Given the description of an element on the screen output the (x, y) to click on. 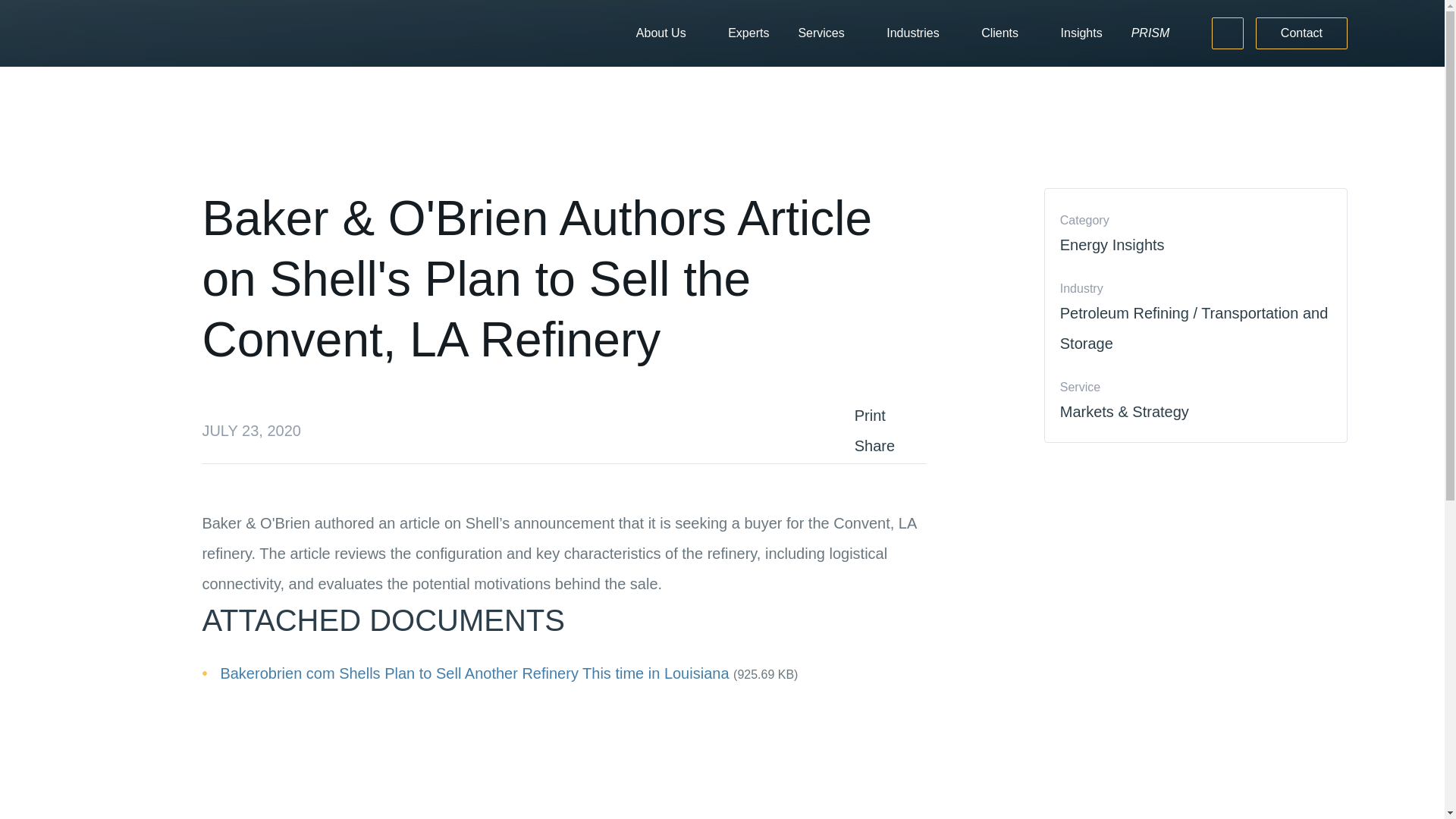
Services (820, 33)
About Us (660, 33)
Experts (748, 33)
PRISM (1150, 33)
Industries (912, 33)
Clients (999, 33)
Insights (1081, 33)
